Given the description of an element on the screen output the (x, y) to click on. 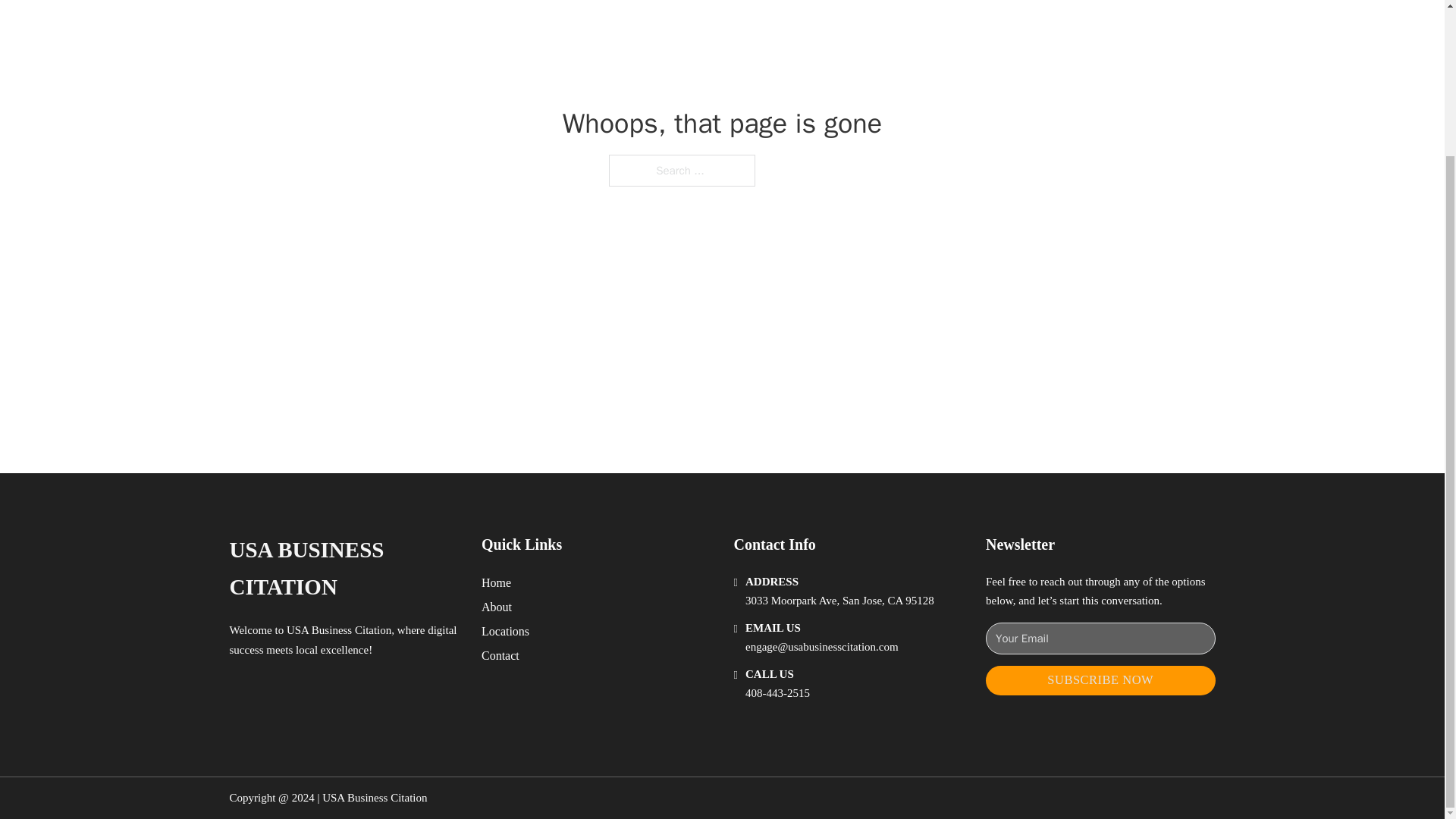
Contact (500, 655)
Locations (505, 630)
Home (496, 582)
About (496, 607)
SUBSCRIBE NOW (1100, 680)
USA BUSINESS CITATION (343, 568)
408-443-2515 (777, 693)
